Given the description of an element on the screen output the (x, y) to click on. 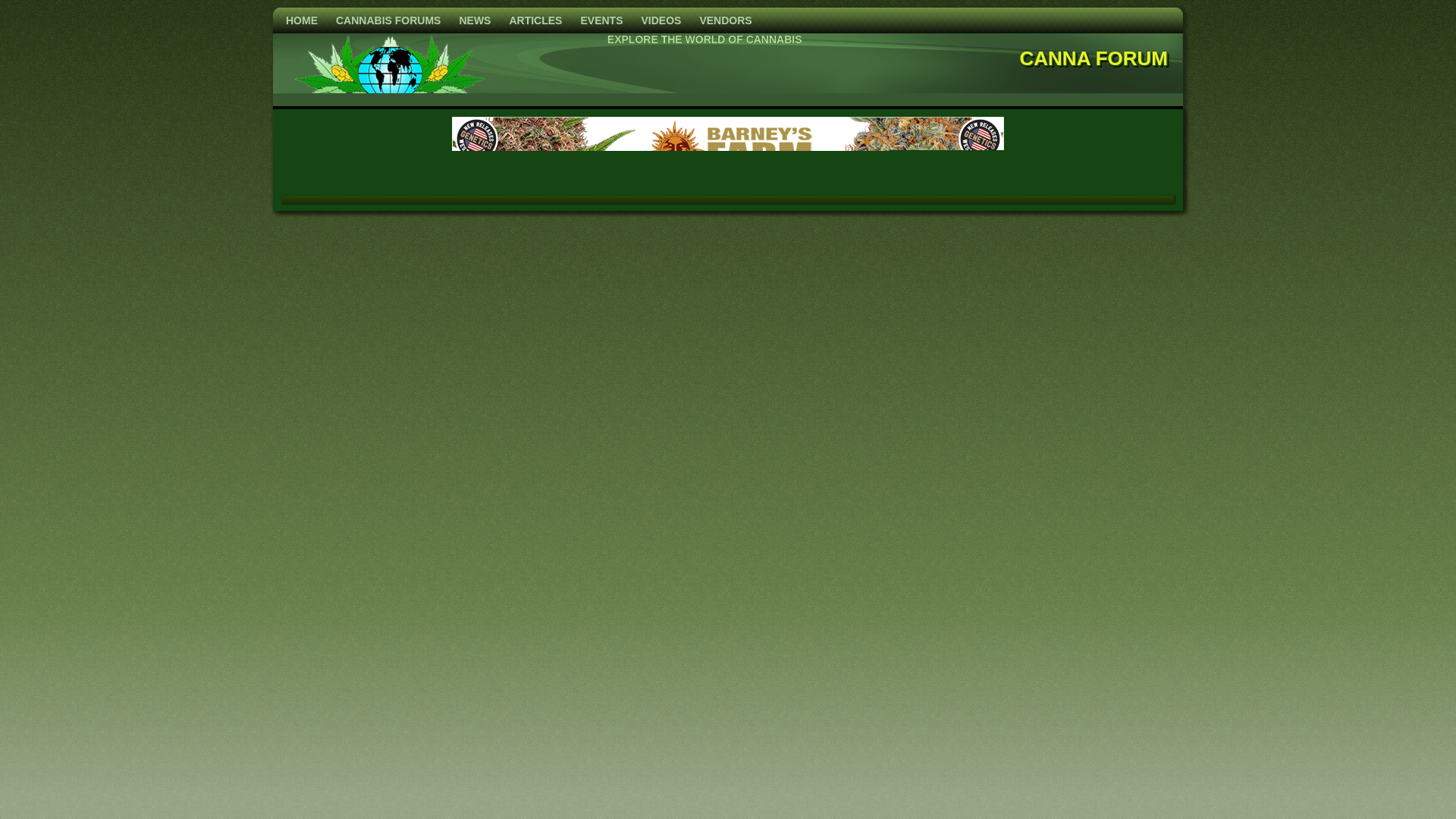
NEWS (474, 20)
HOME (301, 20)
News (474, 20)
CANNABIS FORUMS (387, 20)
Events (600, 20)
EVENTS (600, 20)
Cannabis Forums (387, 20)
CANNA FORUM (1092, 57)
VIDEOS (660, 20)
VENDORS (725, 20)
Articles (534, 20)
ARTICLES (534, 20)
Home (301, 20)
